Given the description of an element on the screen output the (x, y) to click on. 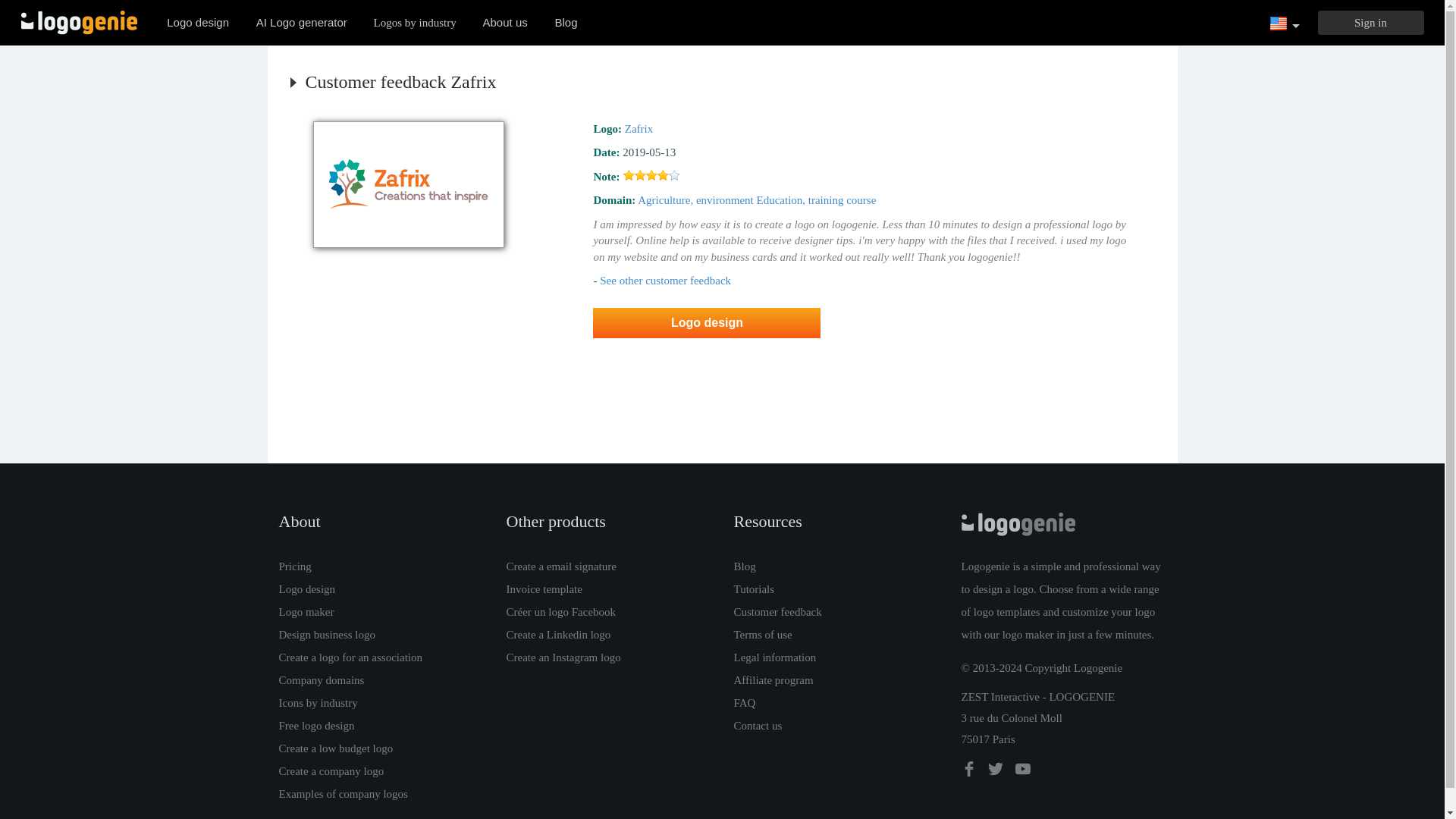
Custom logo design (197, 22)
Back to home (78, 22)
AI Logo generator (301, 22)
Logo design (197, 22)
Back to home (78, 22)
Logos by industry (414, 22)
Blog (565, 22)
About us (505, 22)
Sign in (1370, 22)
AI Logo generator (301, 22)
